Given the description of an element on the screen output the (x, y) to click on. 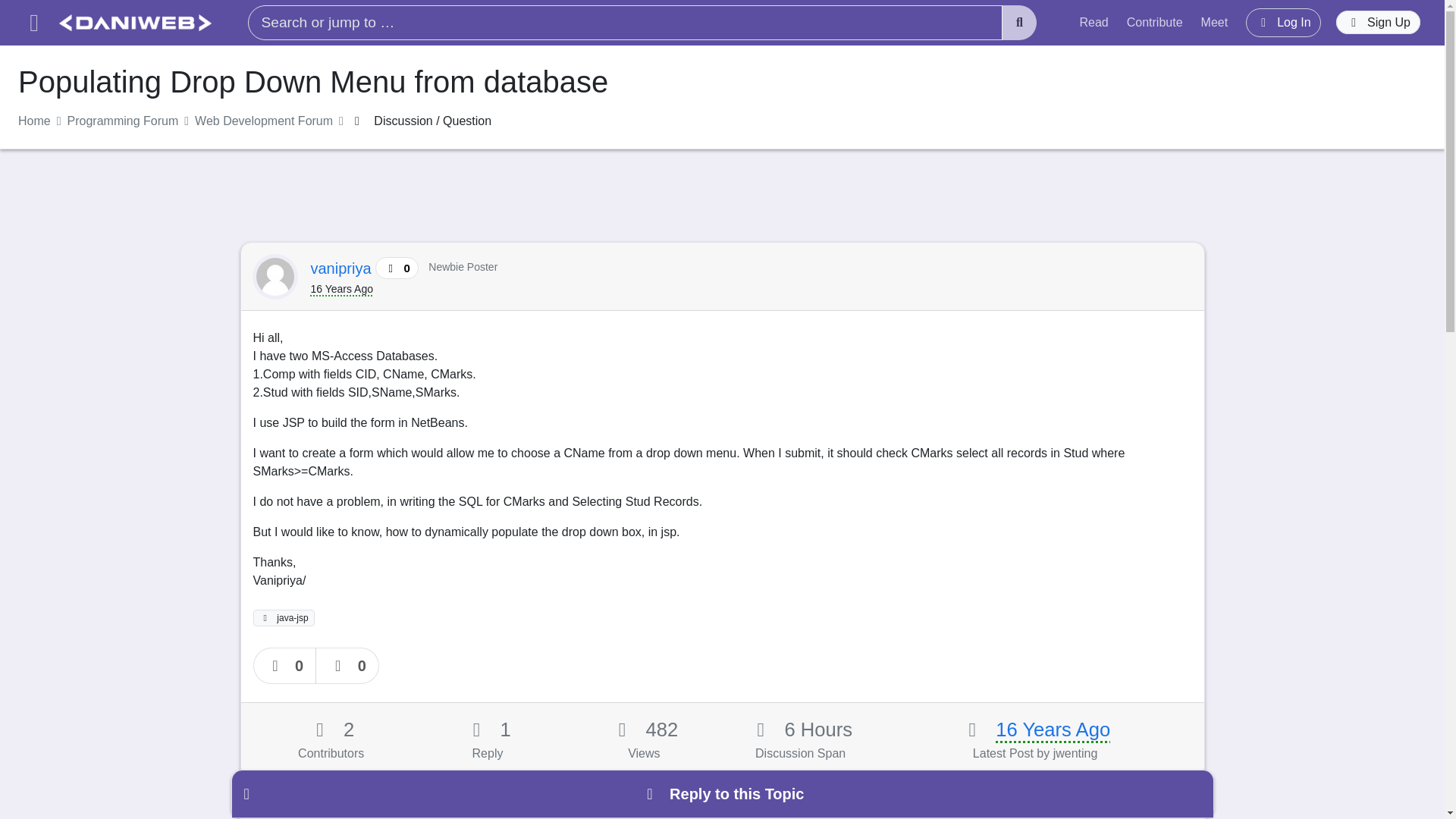
java-jsp (284, 617)
0 (346, 665)
Web Development Forum (264, 120)
DaniWeb (135, 22)
Read (1093, 22)
Home (33, 120)
0 (285, 665)
vanipriya (343, 268)
Menu (33, 22)
Toggle Menu (33, 22)
